Given the description of an element on the screen output the (x, y) to click on. 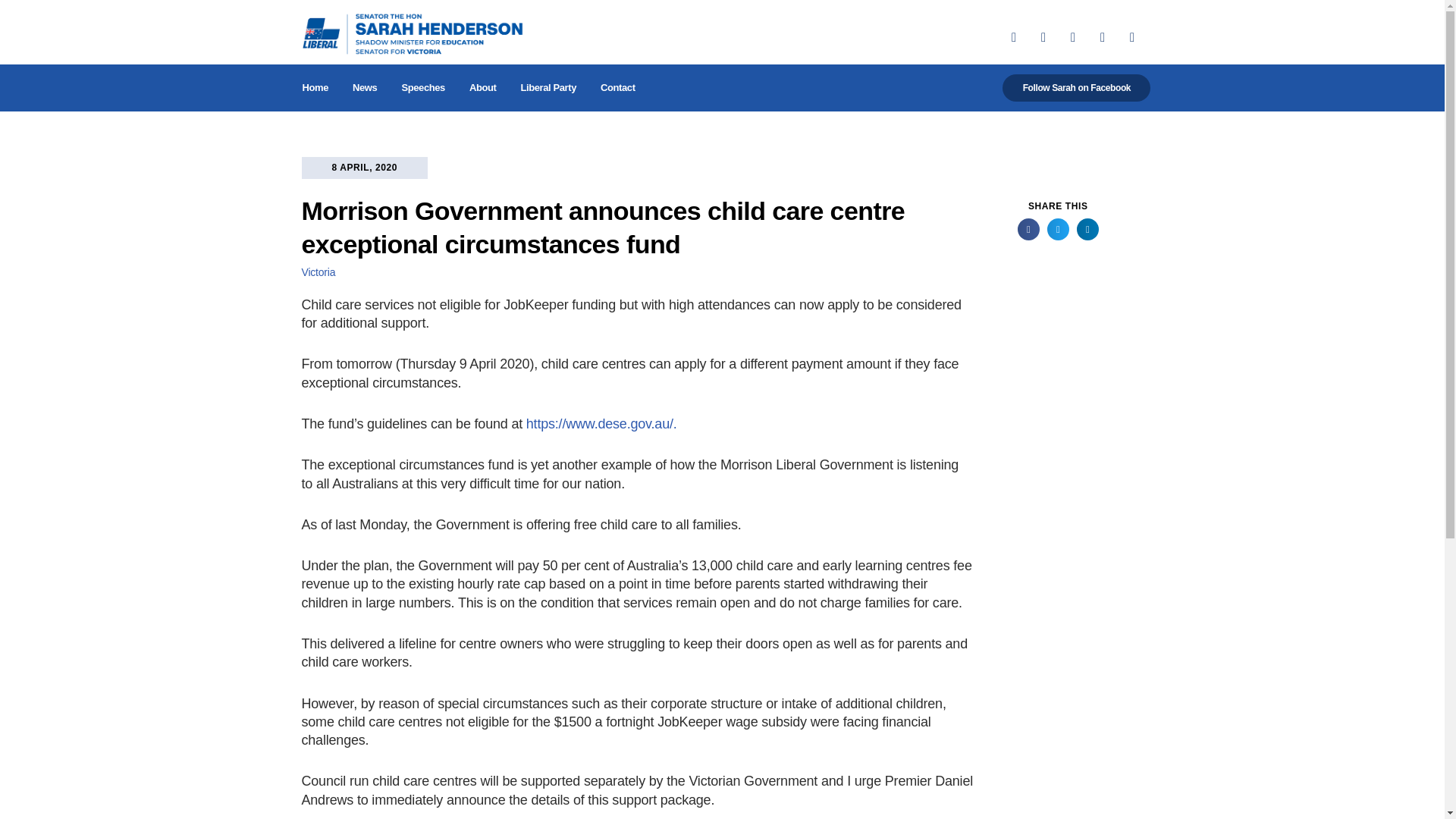
Liberal Party (548, 87)
Skip to content (11, 31)
Speeches (422, 87)
Home (314, 87)
Contact (617, 87)
News (364, 87)
About (482, 87)
